Given the description of an element on the screen output the (x, y) to click on. 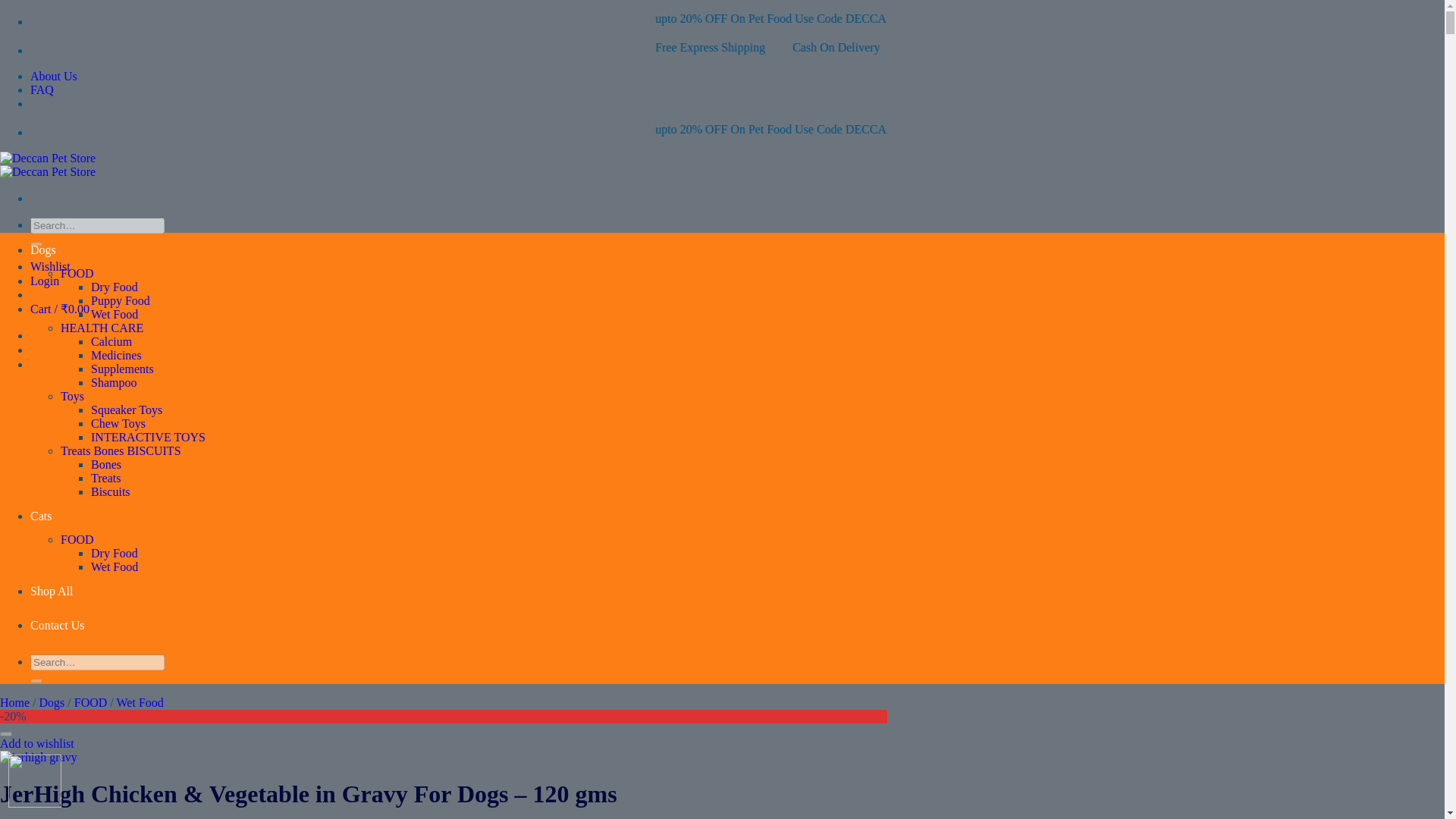
Login (44, 280)
Toys (72, 395)
Bones (105, 463)
Shop All (51, 590)
Search (36, 243)
FOOD (77, 539)
Wet Food (114, 314)
Squeaker Toys (125, 409)
About Us (53, 75)
Treats (105, 477)
FAQ (41, 89)
Puppy Food (119, 300)
Supplements (122, 368)
Medicines (115, 354)
Wet Food (114, 566)
